Given the description of an element on the screen output the (x, y) to click on. 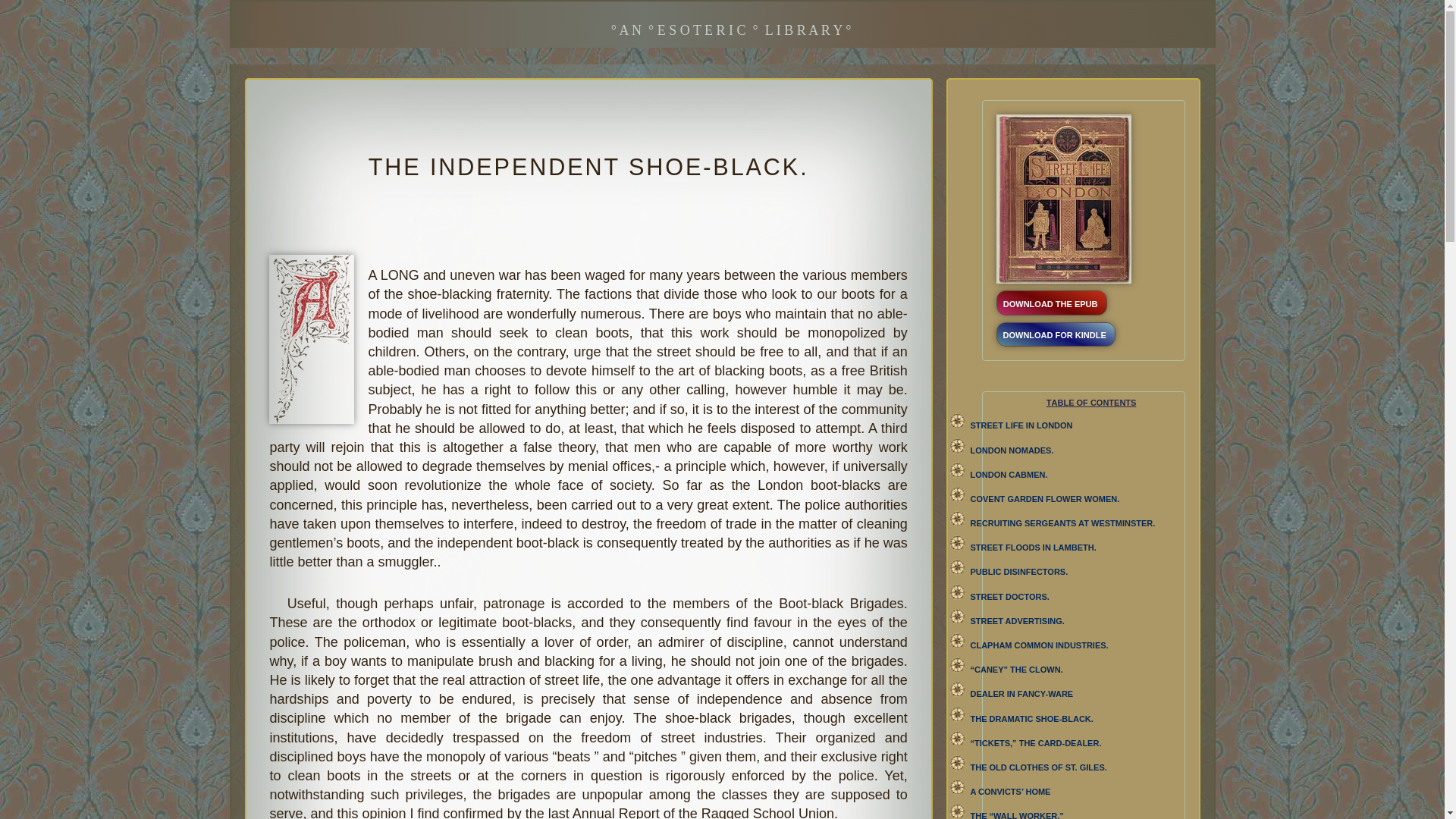
Skip to content (11, 31)
Download for Kindle (1056, 333)
Download the Epub (1051, 302)
RECRUITING SERGEANTS AT WESTMINSTER. (1063, 521)
Street Life in London (1022, 423)
LONDON CABMEN. (1009, 472)
COVENT GARDEN FLOWER WOMEN. (1045, 497)
LONDON NOMADES. (1012, 448)
